Given the description of an element on the screen output the (x, y) to click on. 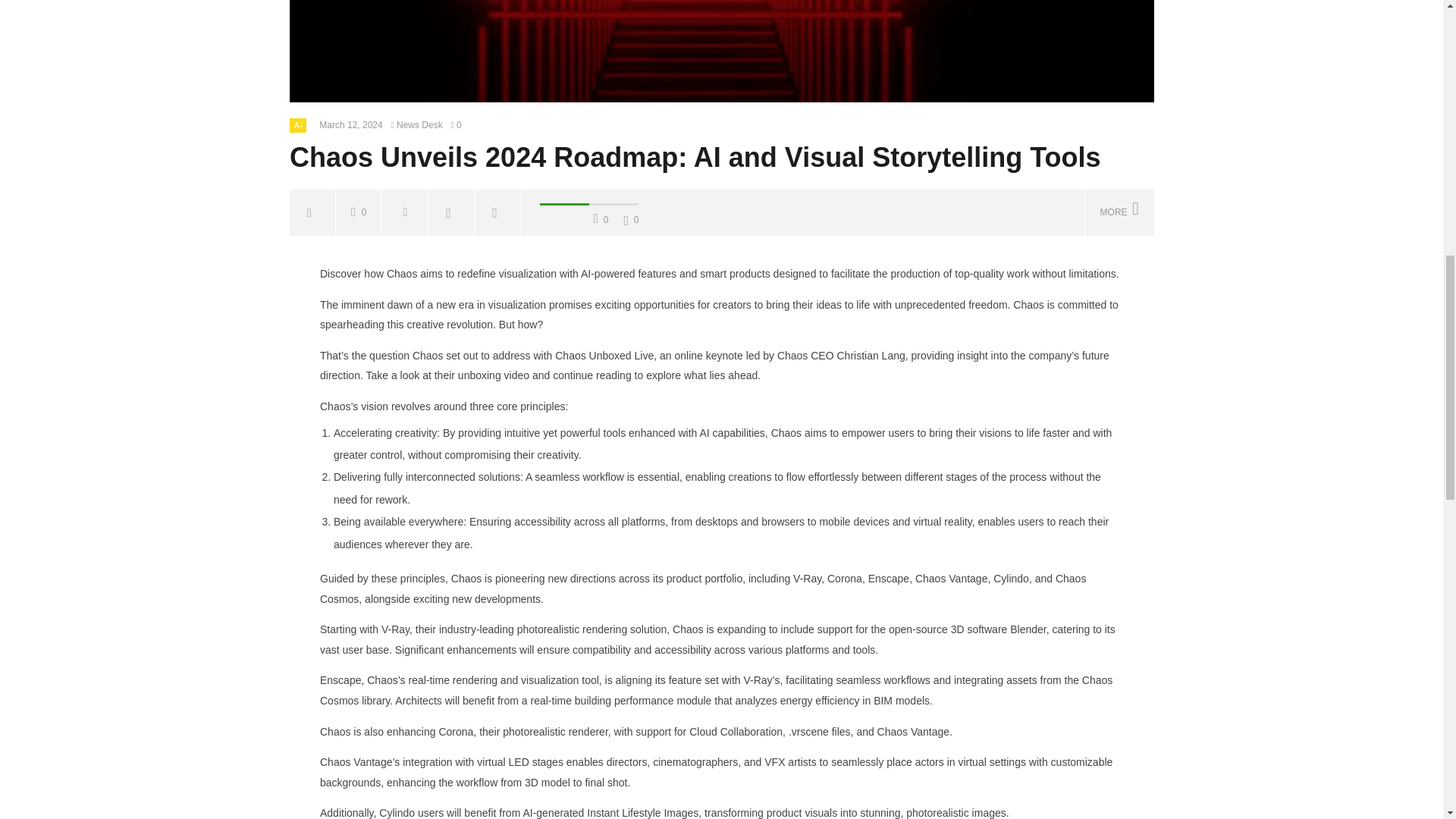
News Desk (419, 124)
0 (459, 124)
AI (298, 124)
MORE  (1119, 212)
